Given the description of an element on the screen output the (x, y) to click on. 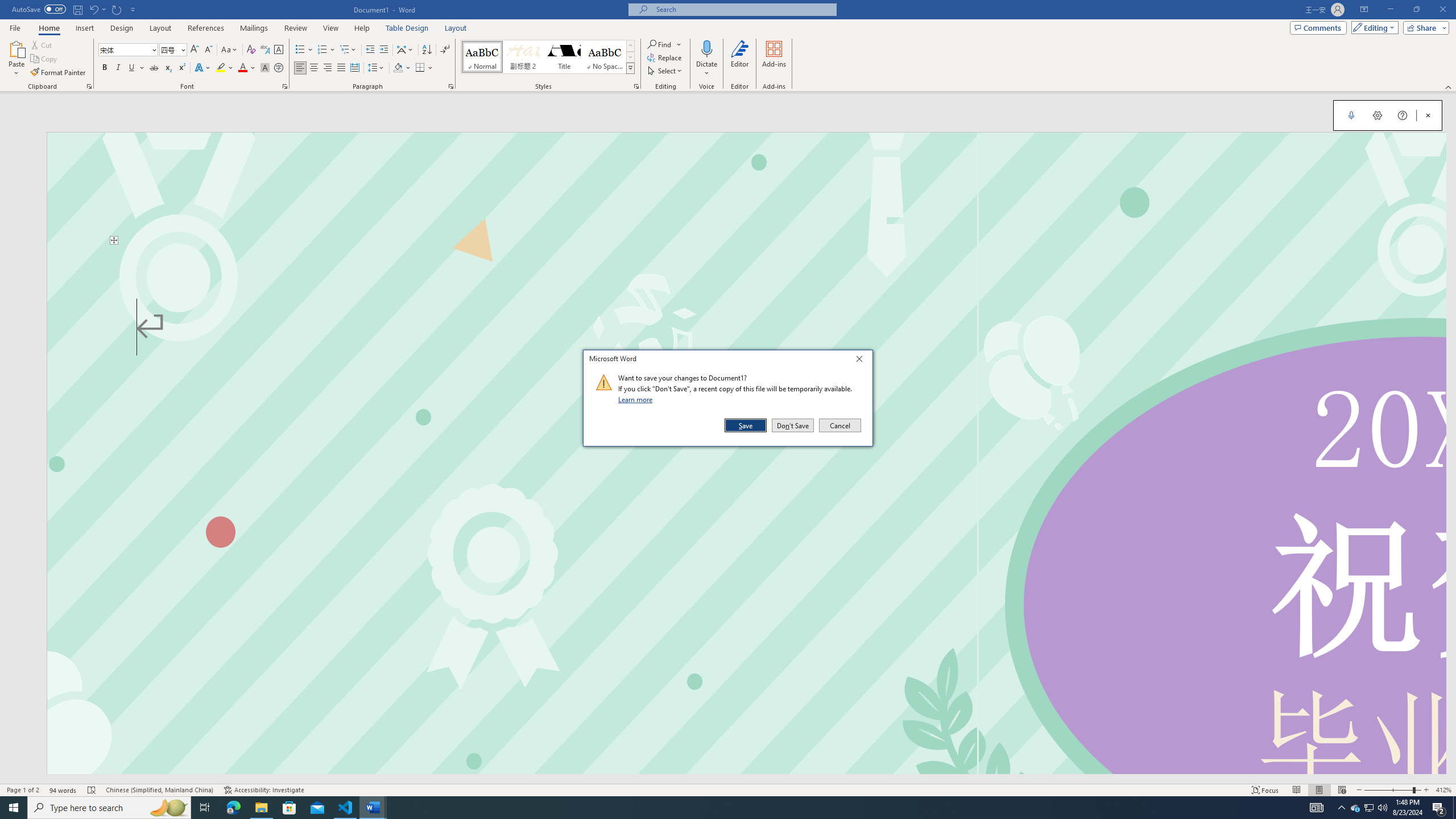
Cancel (1355, 807)
Microsoft Store (839, 425)
Language Chinese (Simplified, Mainland China) (289, 807)
